Given the description of an element on the screen output the (x, y) to click on. 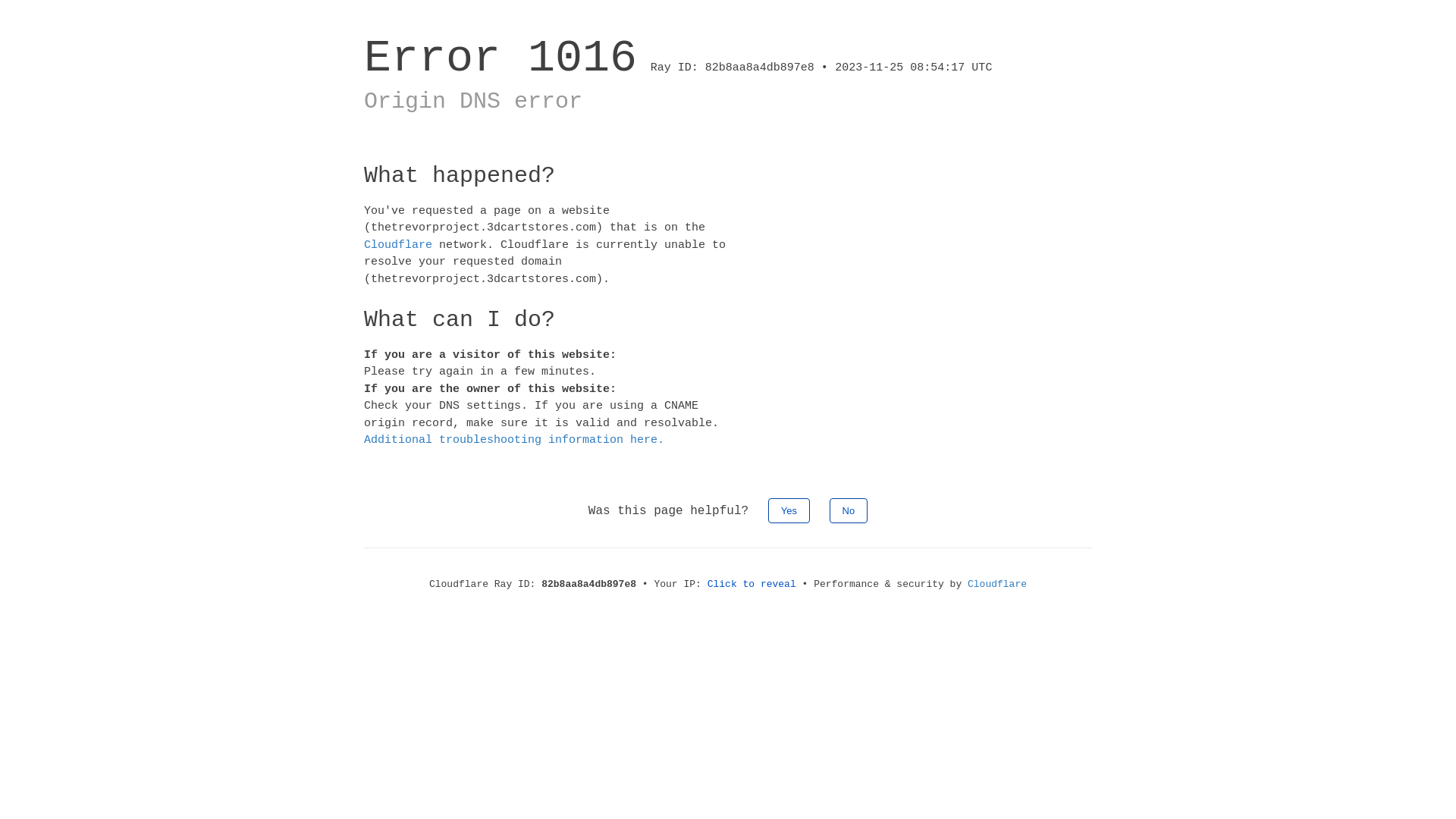
Click to reveal Element type: text (751, 583)
Additional troubleshooting information here. Element type: text (514, 439)
No Element type: text (848, 509)
Cloudflare Element type: text (996, 583)
Yes Element type: text (788, 509)
Cloudflare Element type: text (398, 244)
